Given the description of an element on the screen output the (x, y) to click on. 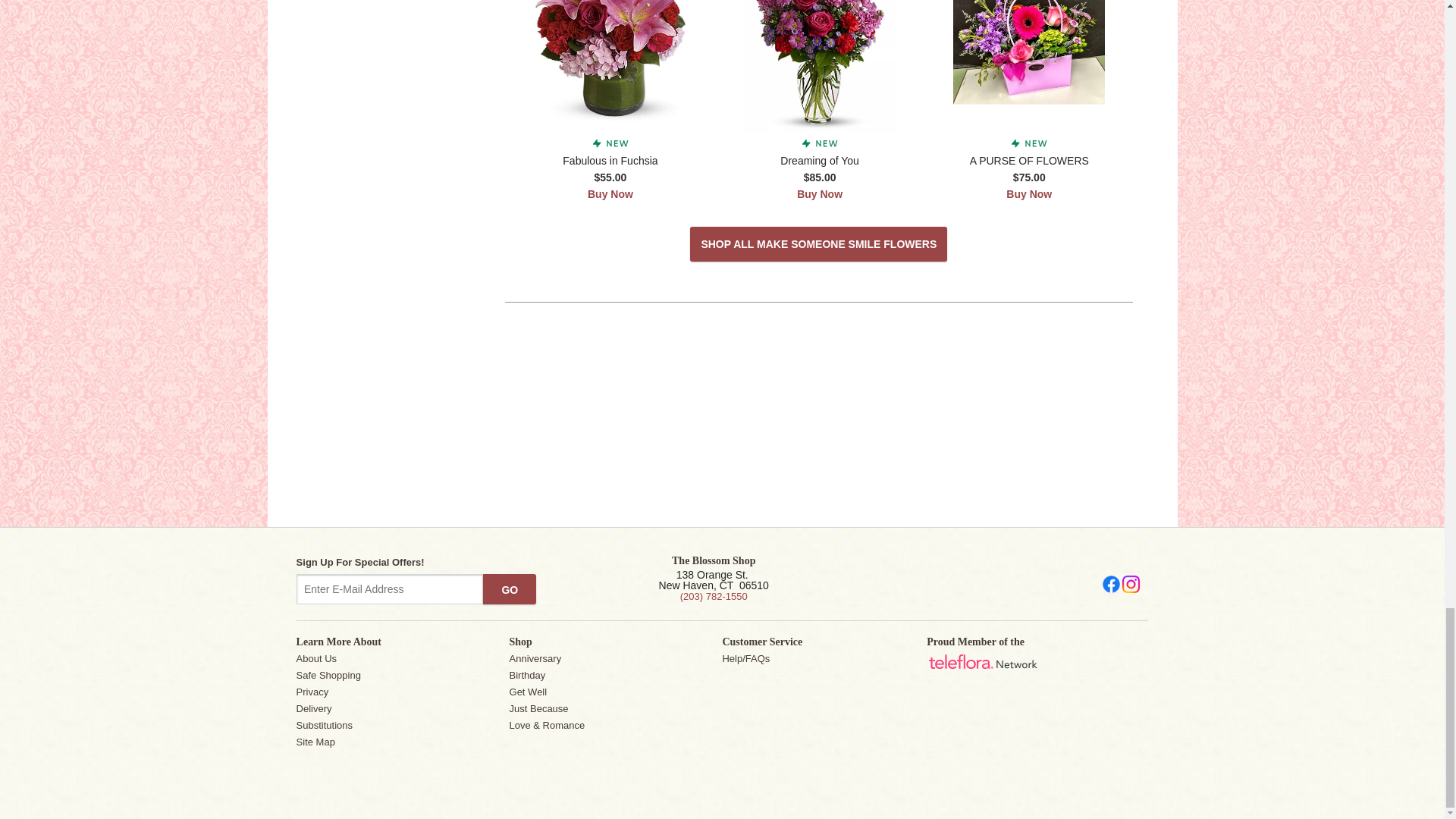
go (509, 589)
Go (509, 589)
Email Sign up (390, 589)
